Given the description of an element on the screen output the (x, y) to click on. 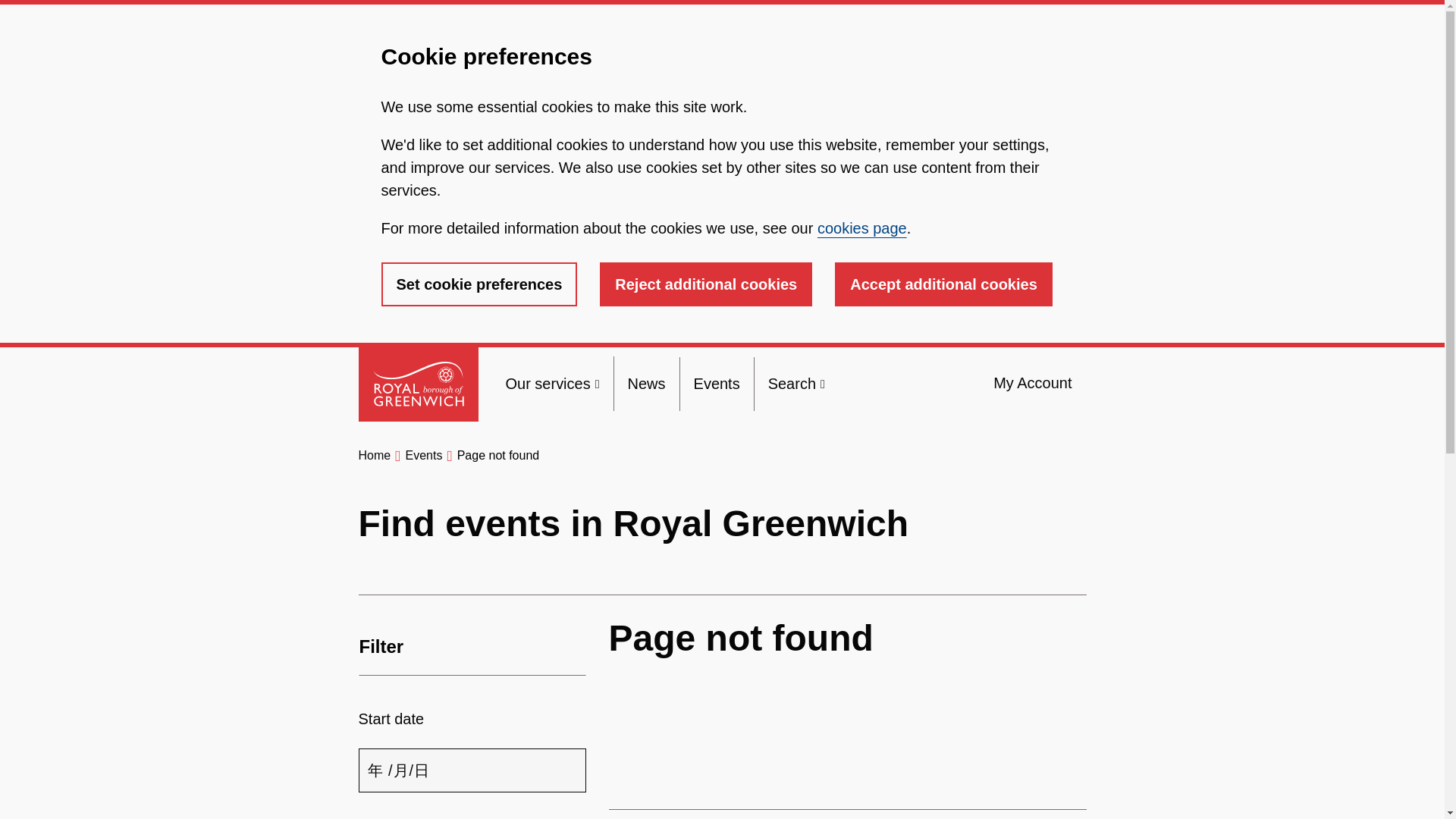
Events (716, 384)
My Account (1031, 383)
Filter (471, 646)
News (646, 384)
Home (374, 455)
Set cookie preferences (478, 284)
Events (423, 455)
cookies page (861, 228)
Reject additional cookies (705, 284)
Our services (551, 383)
